Given the description of an element on the screen output the (x, y) to click on. 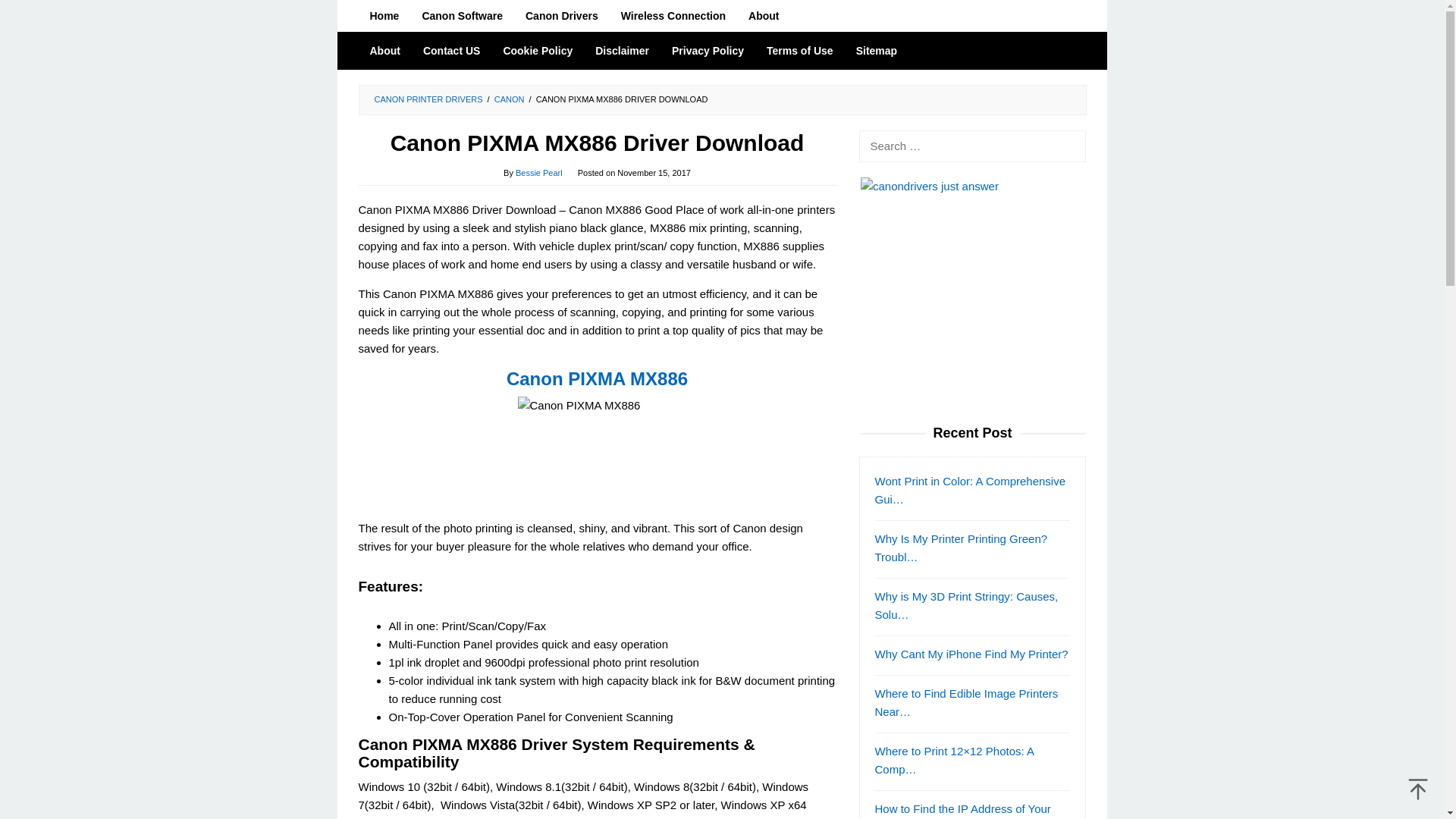
Wireless Connection (673, 15)
Privacy Policy (708, 50)
Disclaimer (622, 50)
Canon Software (461, 15)
About (763, 15)
Bessie Pearl (538, 172)
Get expert help in just three steps (972, 292)
CANON (509, 99)
Canon PIXMA MX886 (596, 451)
Permalink to: Bessie Pearl (538, 172)
